Given the description of an element on the screen output the (x, y) to click on. 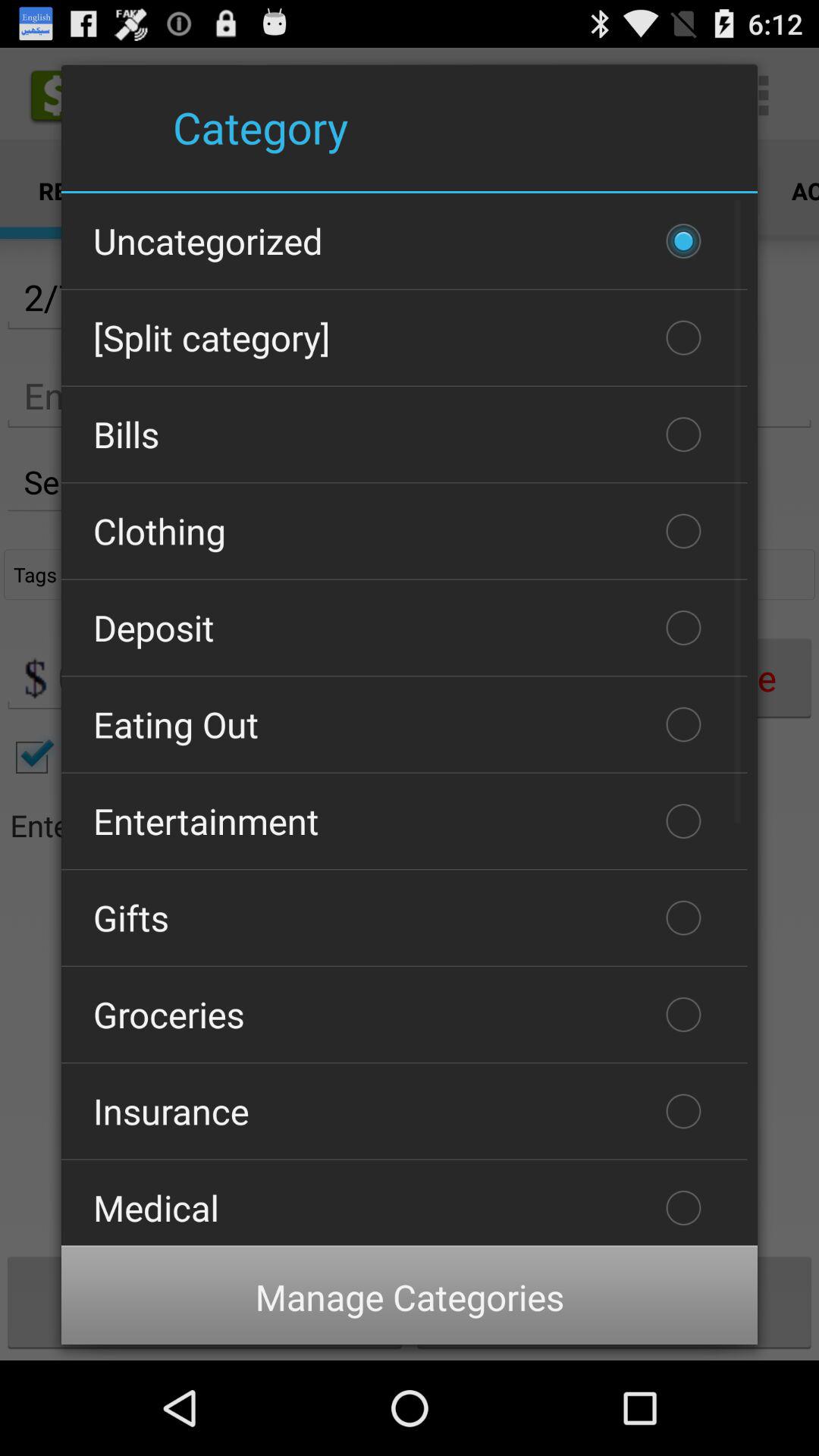
choose the eating out (404, 724)
